Given the description of an element on the screen output the (x, y) to click on. 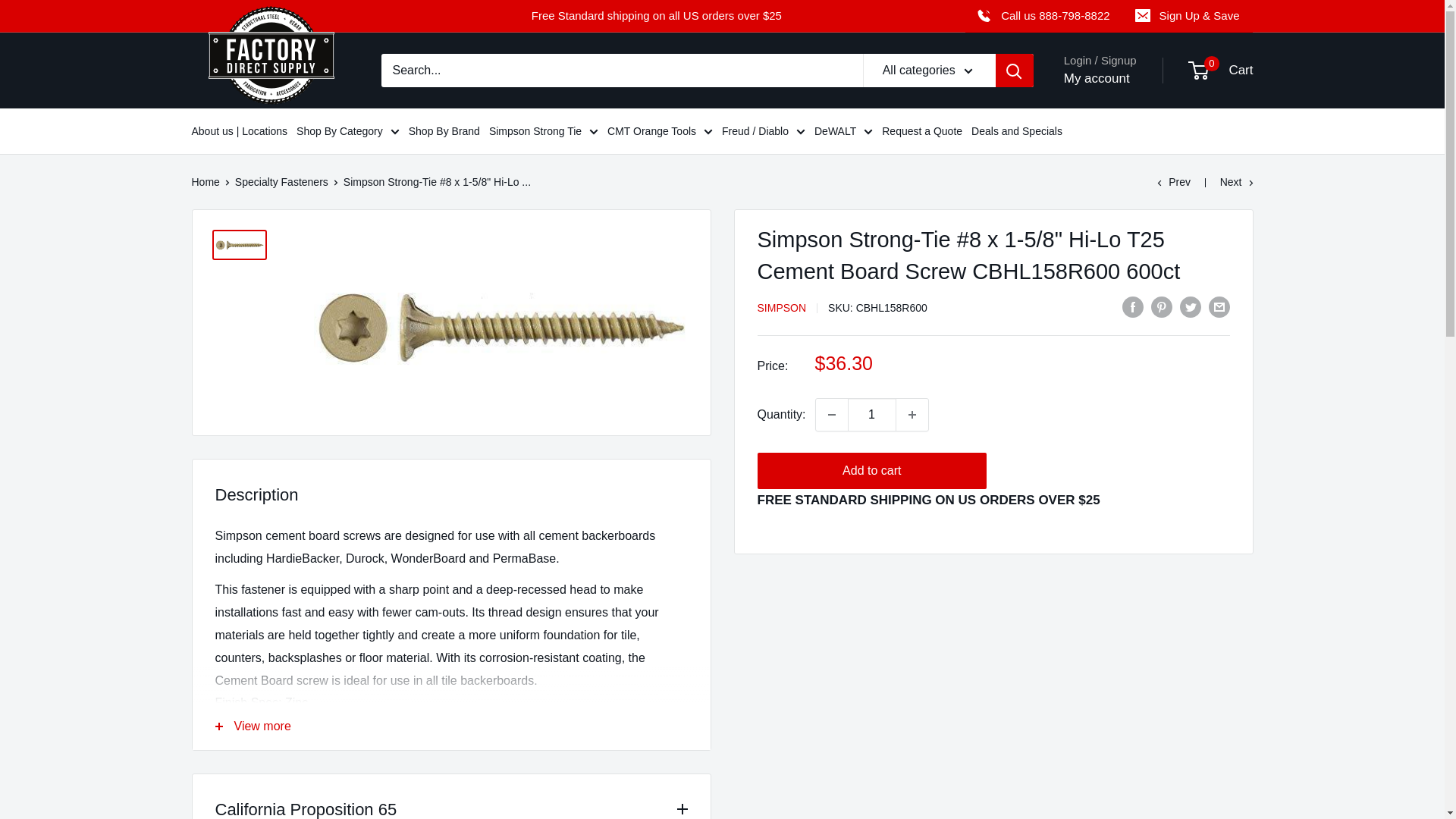
Increase quantity by 1 (912, 414)
Call us 888-798-8822 (1043, 15)
Decrease quantity by 1 (831, 414)
Call us 888-798-8822 (1055, 15)
1 (871, 414)
